Given the description of an element on the screen output the (x, y) to click on. 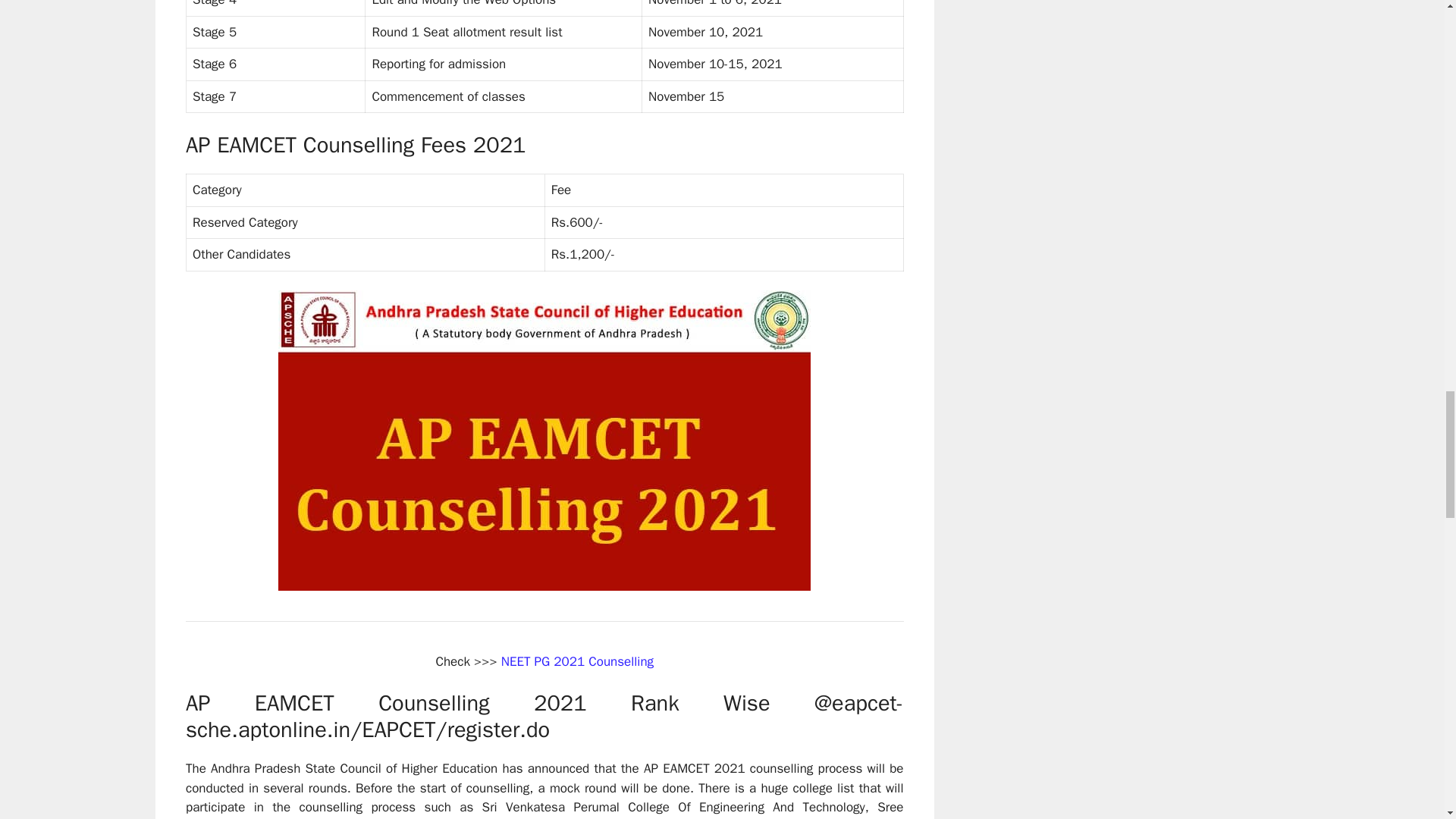
NEET PG 2021 Counselling (576, 661)
